Given the description of an element on the screen output the (x, y) to click on. 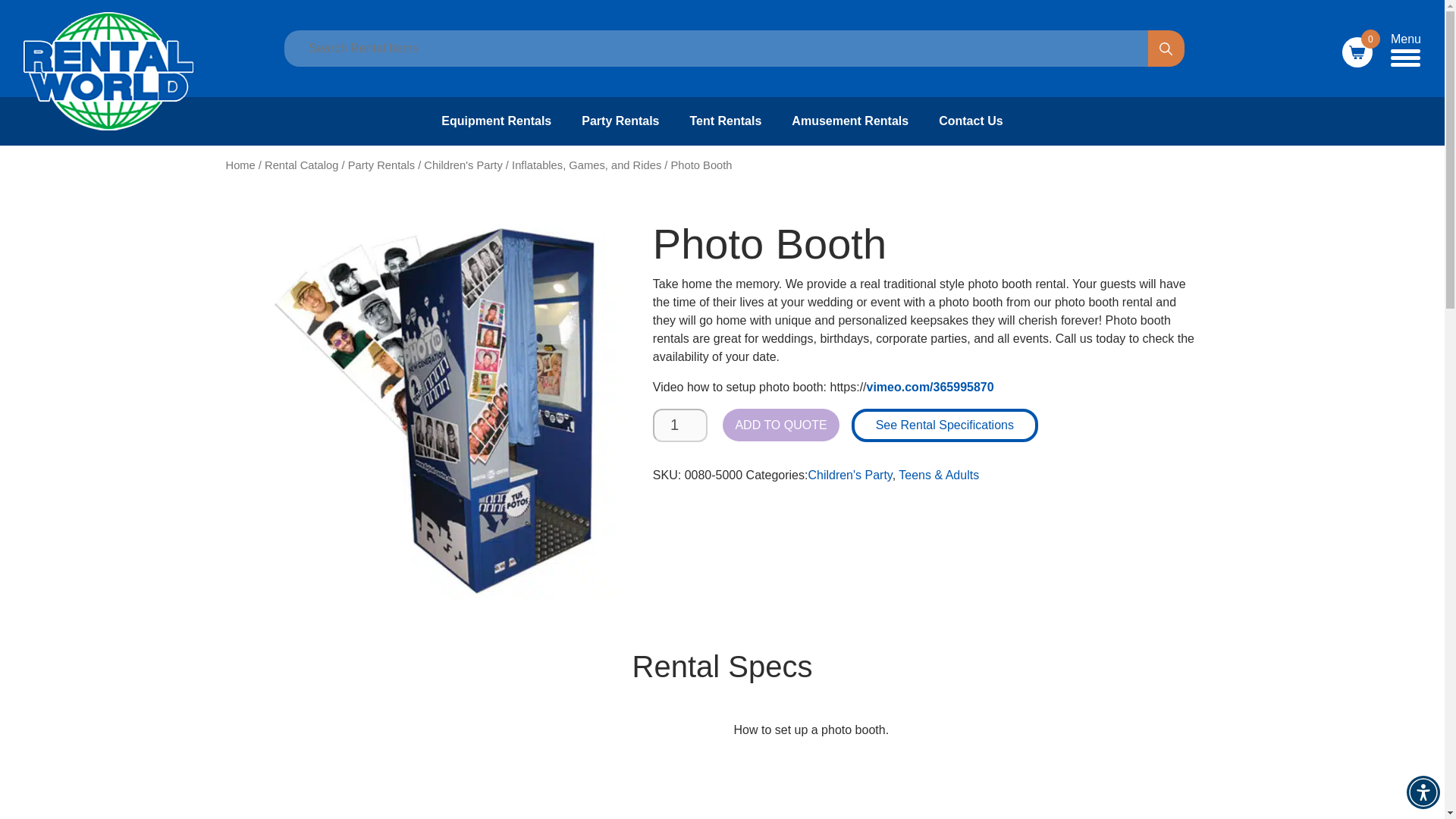
1 (679, 425)
Accessibility Menu (1422, 792)
Equipment Rentals (496, 121)
How to setup a photo booth (408, 764)
